Given the description of an element on the screen output the (x, y) to click on. 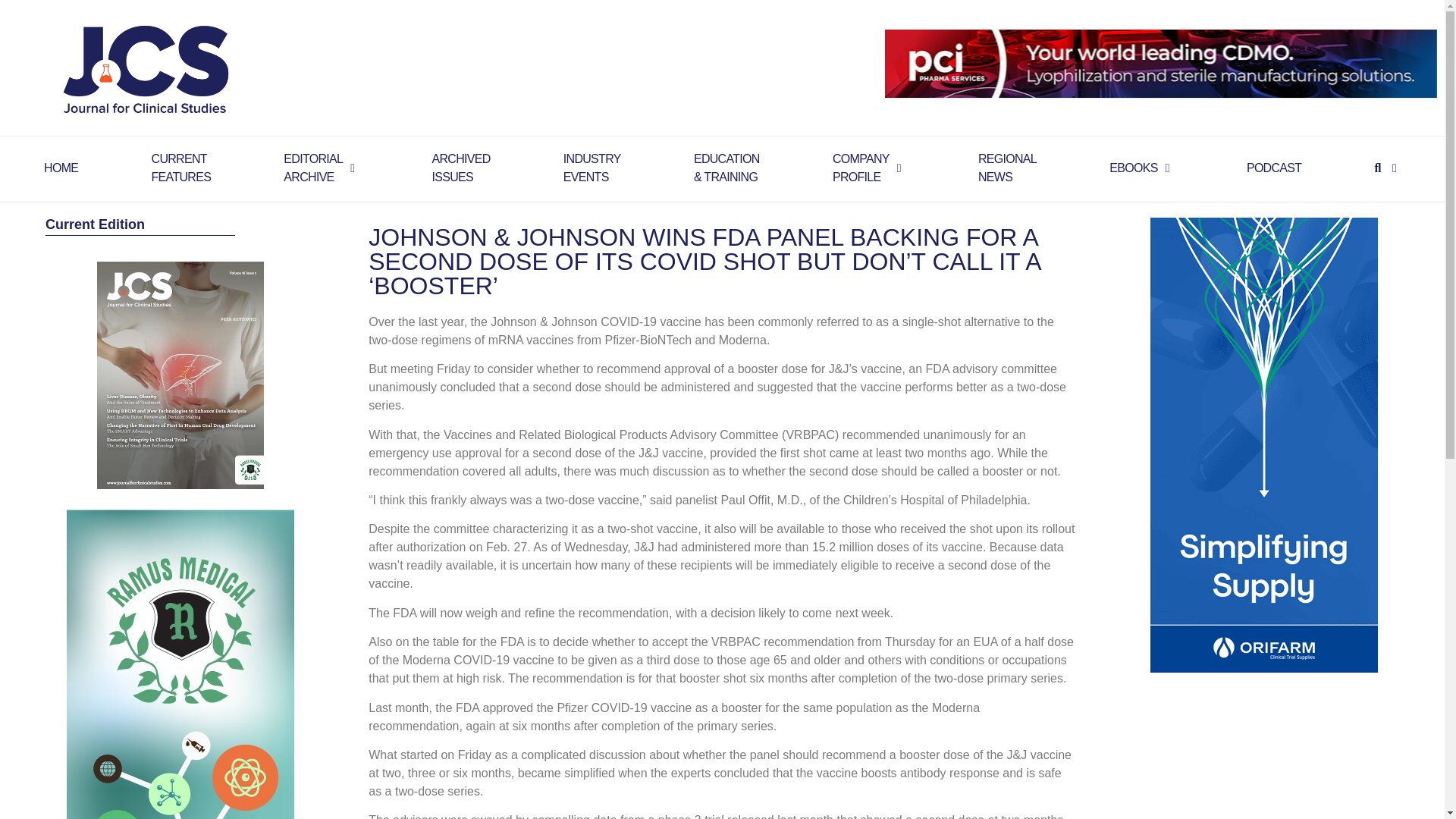
PODCAST (860, 167)
HOME (459, 167)
